Given the description of an element on the screen output the (x, y) to click on. 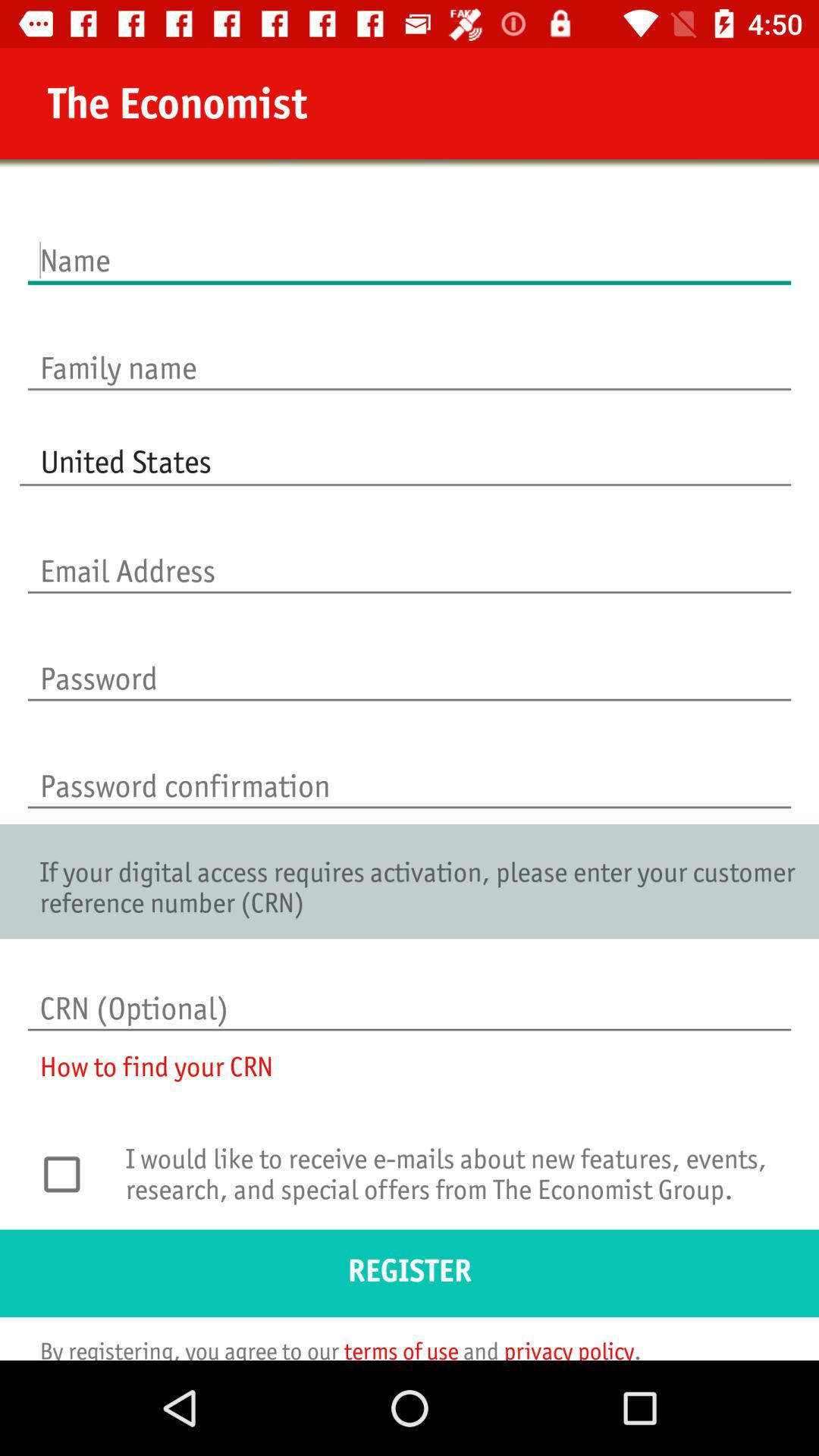
select the icon above the how to find (409, 992)
